Given the description of an element on the screen output the (x, y) to click on. 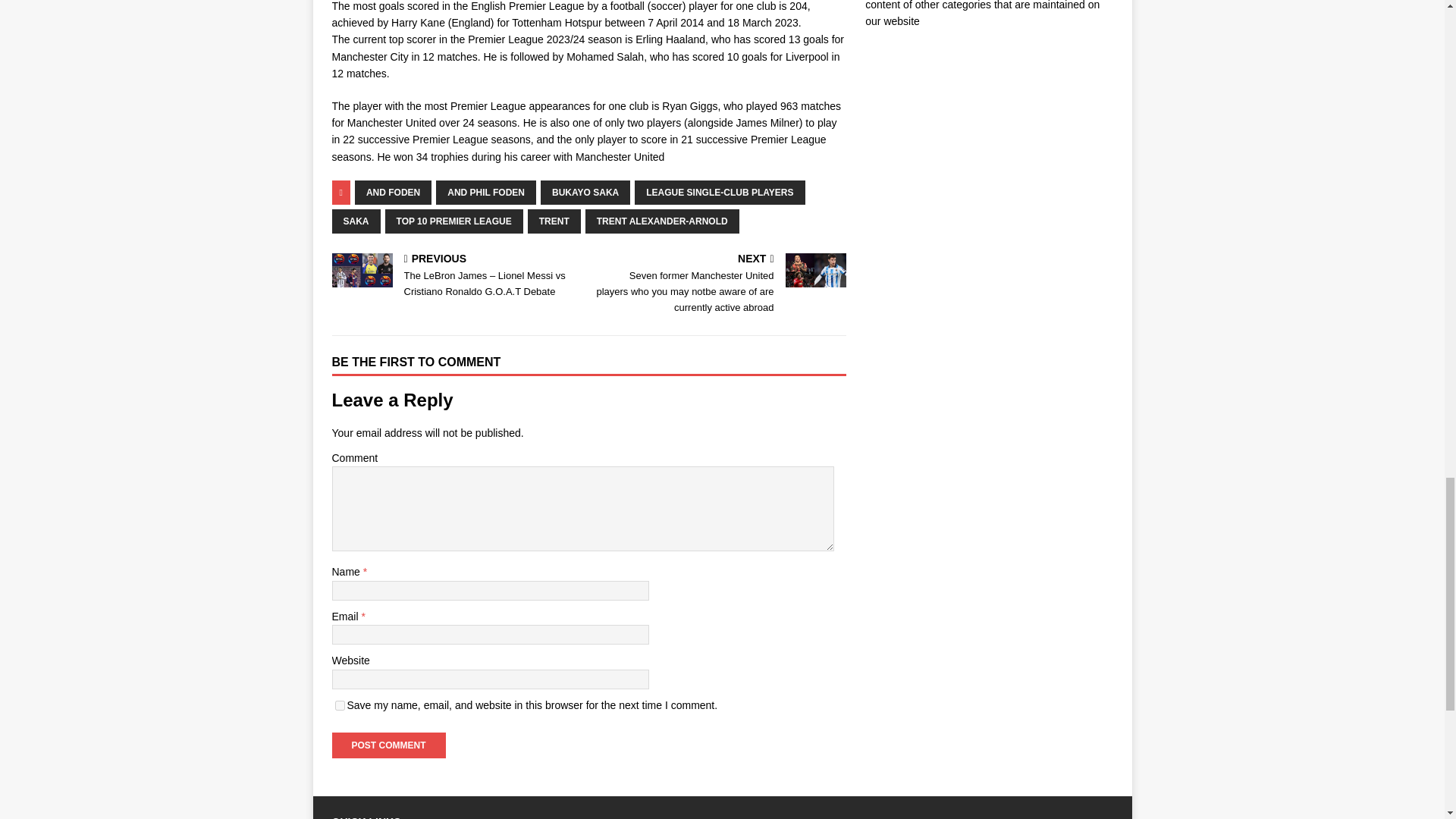
TRENT (553, 221)
SAKA (355, 221)
Post Comment (388, 745)
yes (339, 705)
LEAGUE SINGLE-CLUB PLAYERS (719, 192)
TRENT ALEXANDER-ARNOLD (662, 221)
TOP 10 PREMIER LEAGUE (453, 221)
Post Comment (388, 745)
BUKAYO SAKA (585, 192)
AND FODEN (392, 192)
AND PHIL FODEN (485, 192)
